Given the description of an element on the screen output the (x, y) to click on. 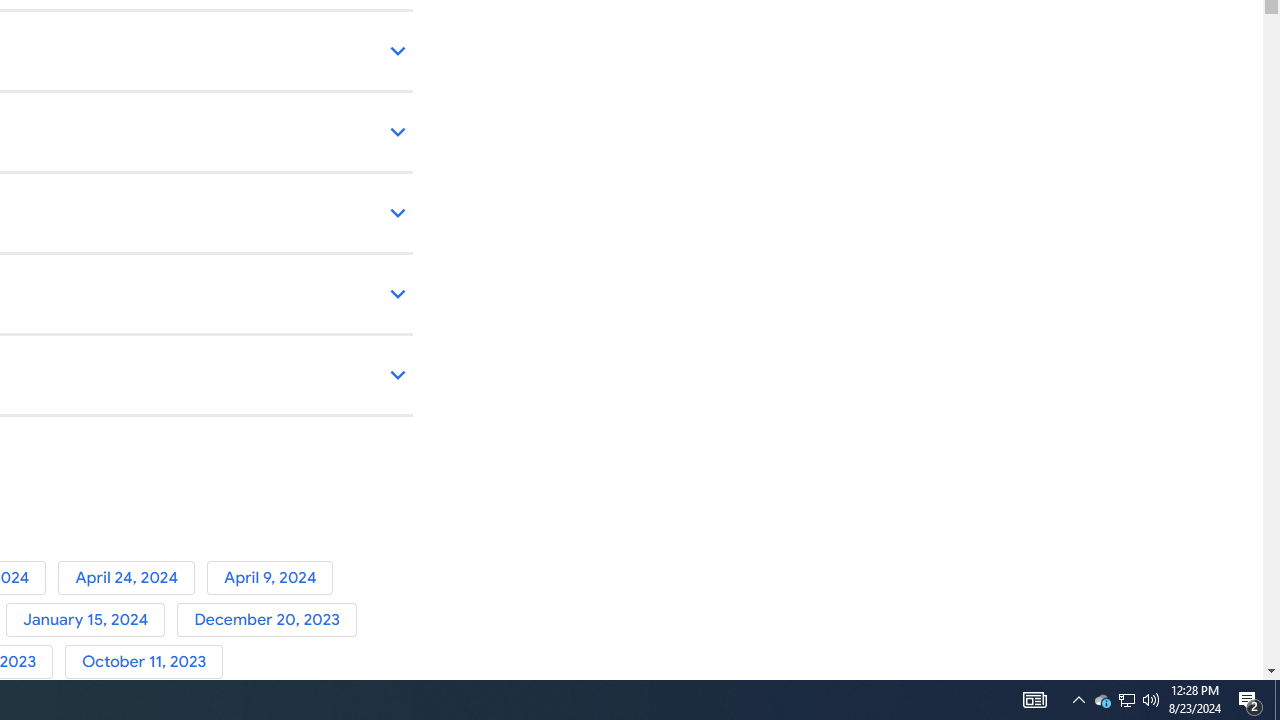
April 9, 2024 (273, 577)
April 24, 2024 (132, 577)
October 11, 2023 (147, 661)
January 15, 2024 (91, 620)
December 20, 2023 (270, 620)
